Given the description of an element on the screen output the (x, y) to click on. 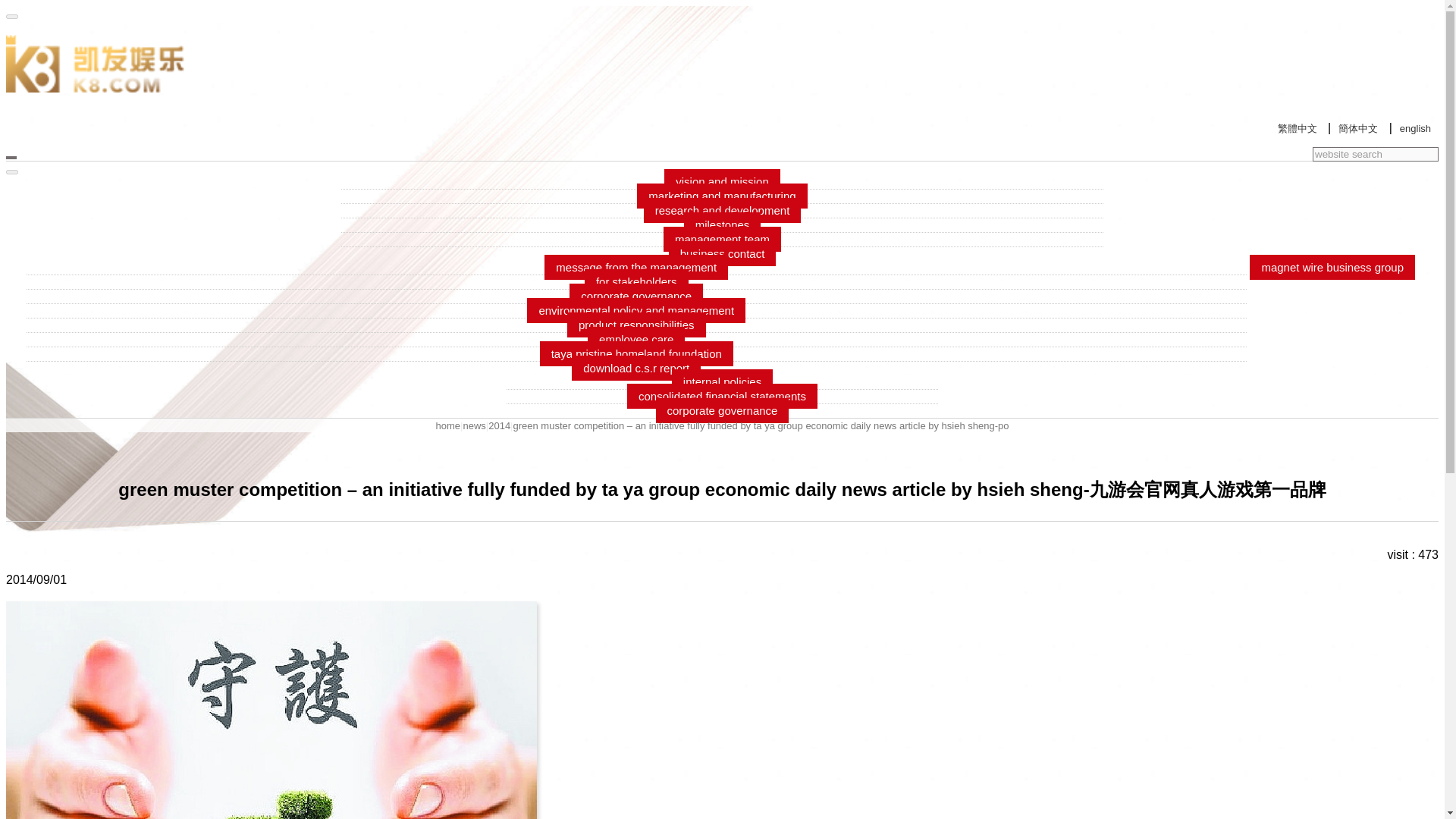
magnet wire business group (1332, 267)
download c.s.r report (636, 367)
corporate governance (722, 410)
internal policies (722, 381)
marketing and manufacturing (721, 195)
consolidated financial statements (721, 396)
for stakeholders (636, 281)
home (448, 425)
milestones (722, 224)
corporate governance (636, 295)
for stakeholders (636, 281)
download c.s.r report (636, 367)
news (473, 425)
corporate governance (722, 410)
research and development (722, 210)
